Given the description of an element on the screen output the (x, y) to click on. 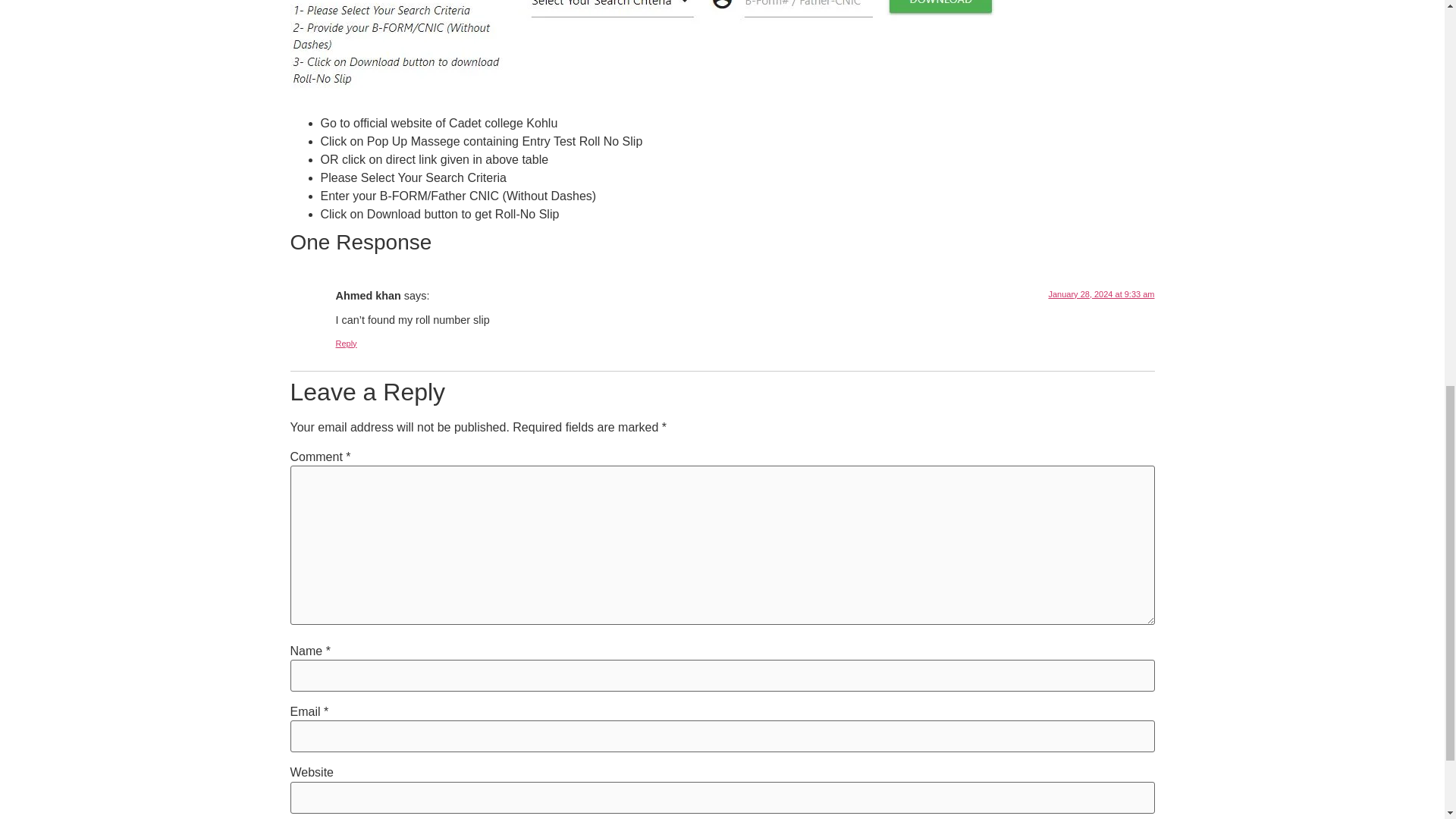
Reply (345, 343)
January 28, 2024 at 9:33 am (1101, 293)
